Given the description of an element on the screen output the (x, y) to click on. 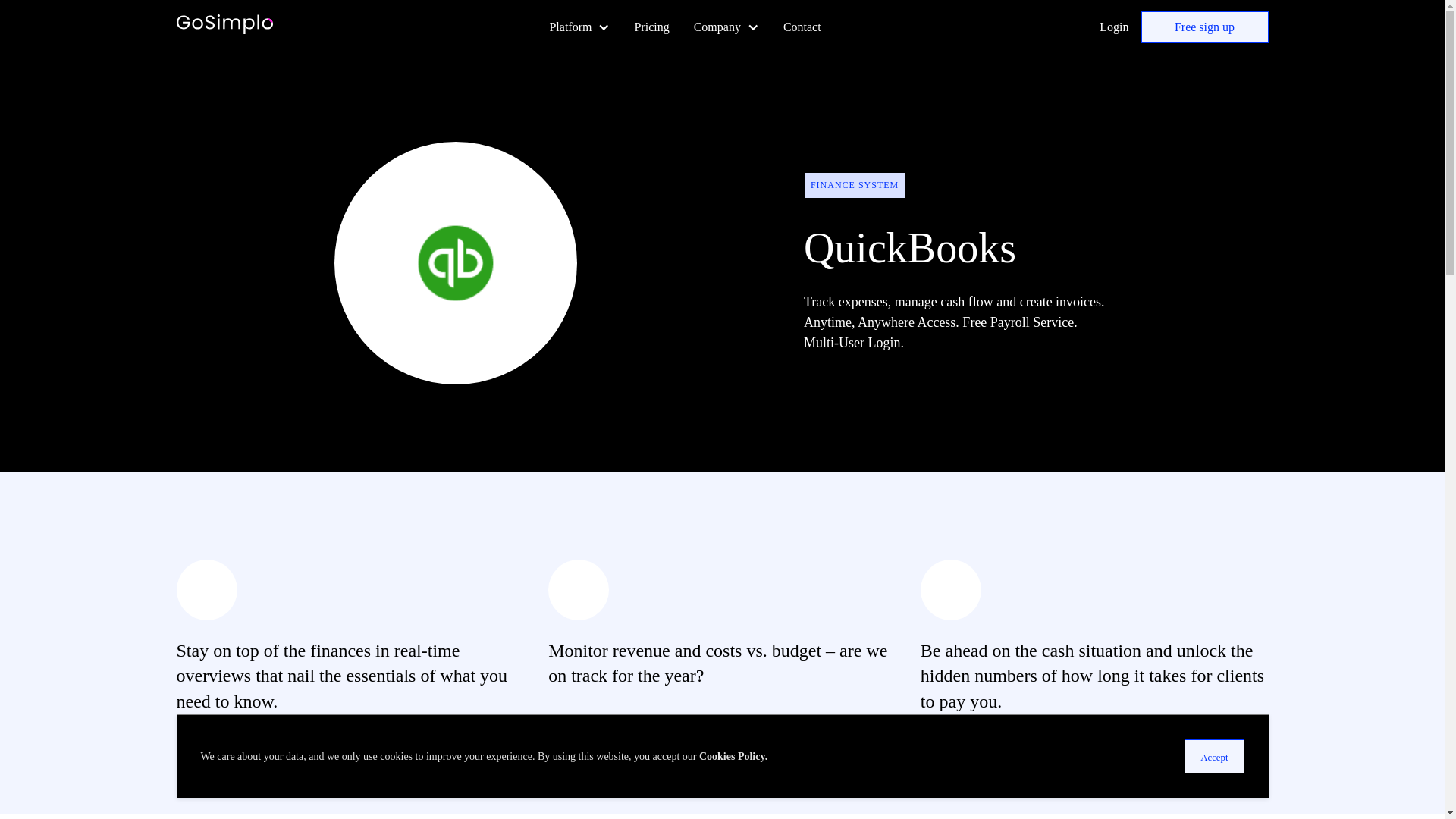
Pricing (651, 27)
Login (1113, 26)
Contact (801, 27)
Accept (1214, 756)
Cookies Policy (731, 756)
Free sign up (1204, 26)
